Given the description of an element on the screen output the (x, y) to click on. 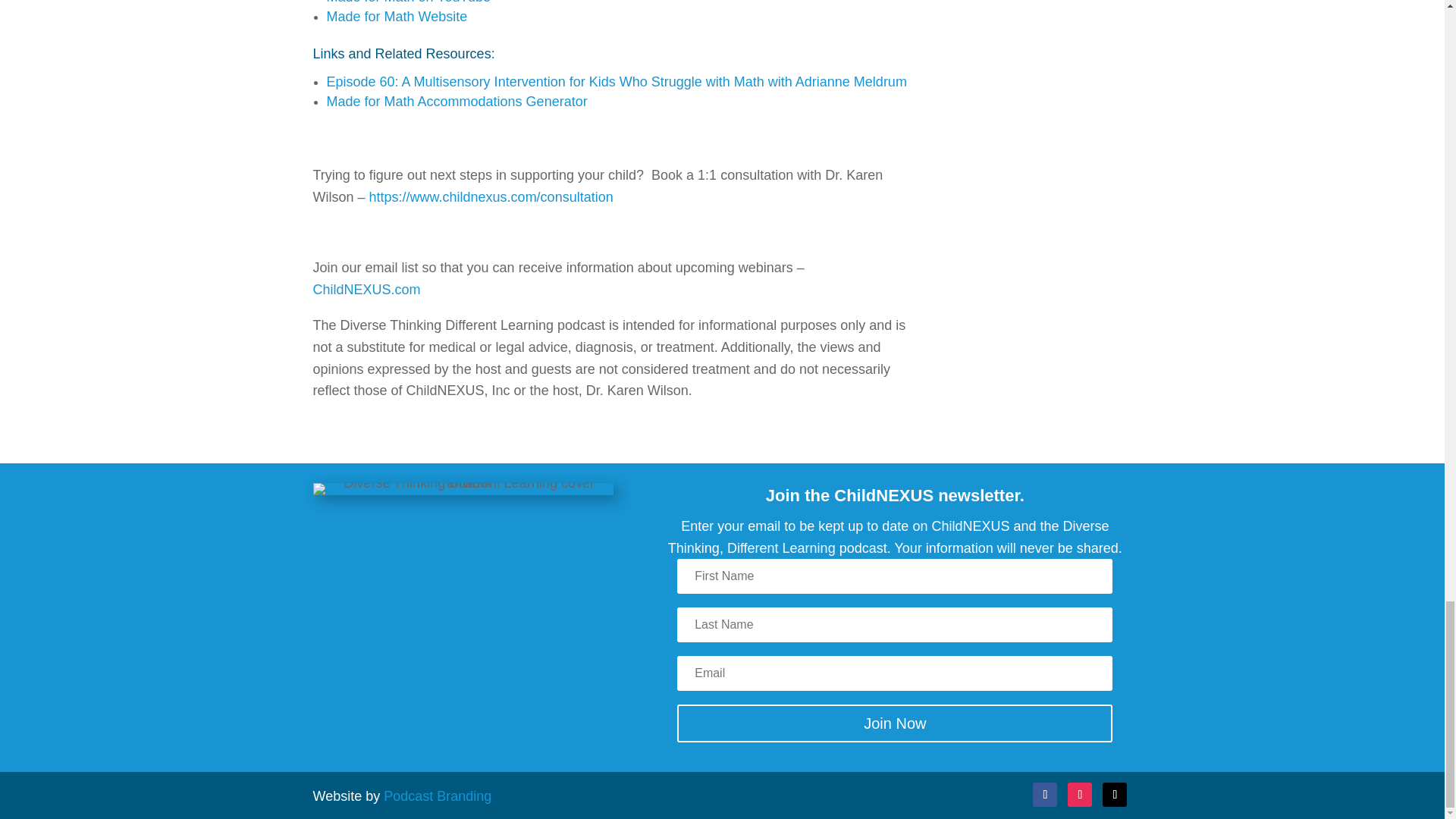
Follow on X (1114, 794)
Made for Math Website (396, 16)
ChildNEXUS.com (366, 289)
Podcast Branding (438, 795)
ChildNEXUS-coverartwork (462, 489)
Follow on Facebook (1044, 794)
Made for Math Accommodations Generator (456, 101)
Follow on Instagram (1079, 794)
Join Now (894, 723)
Made for Math on YouTube (407, 2)
